Given the description of an element on the screen output the (x, y) to click on. 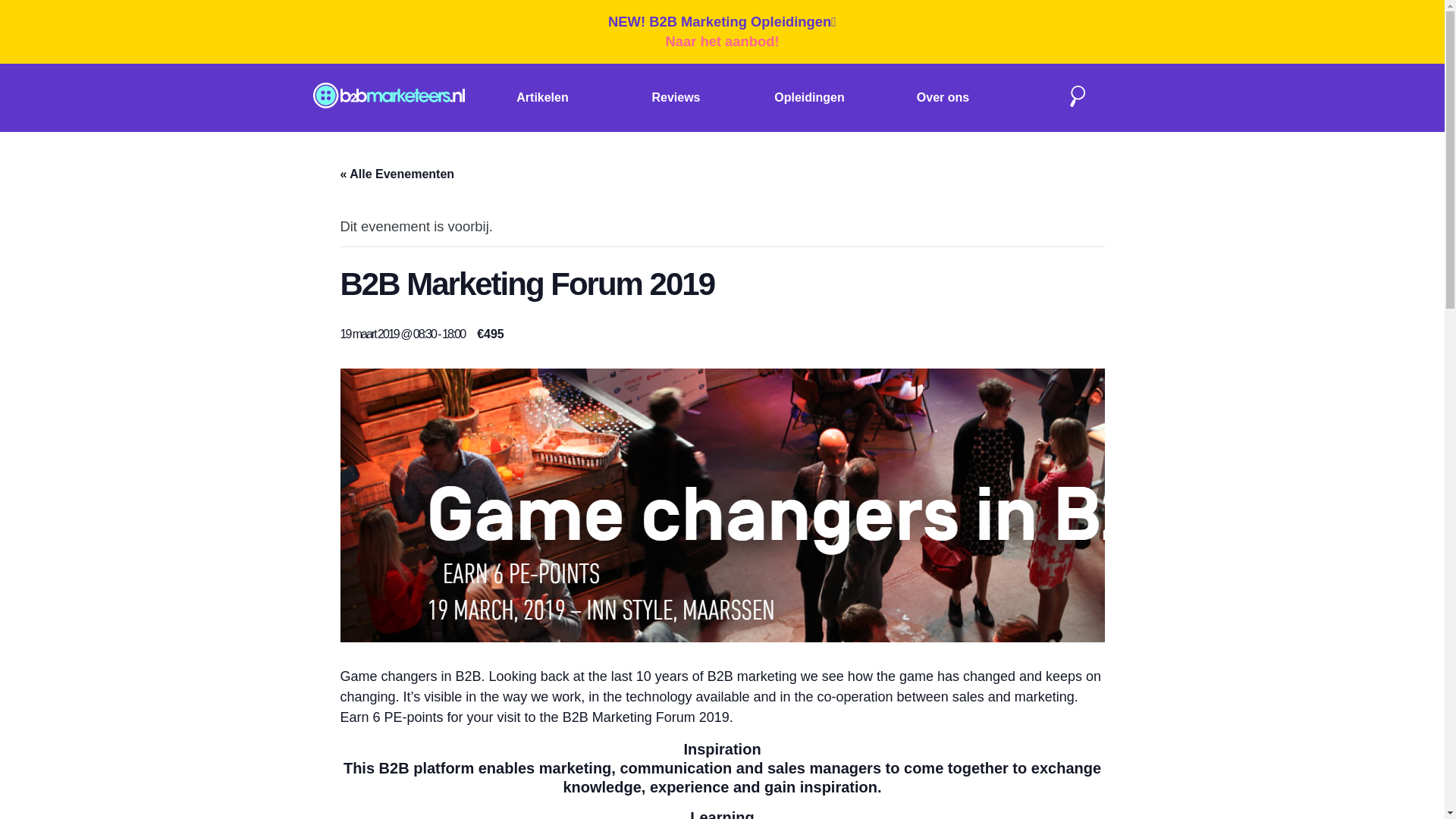
Opleidingen (809, 97)
Logo (388, 98)
Artikelen (541, 97)
Over ons (943, 97)
Reviews (675, 97)
Naar het aanbod! (721, 41)
